Given the description of an element on the screen output the (x, y) to click on. 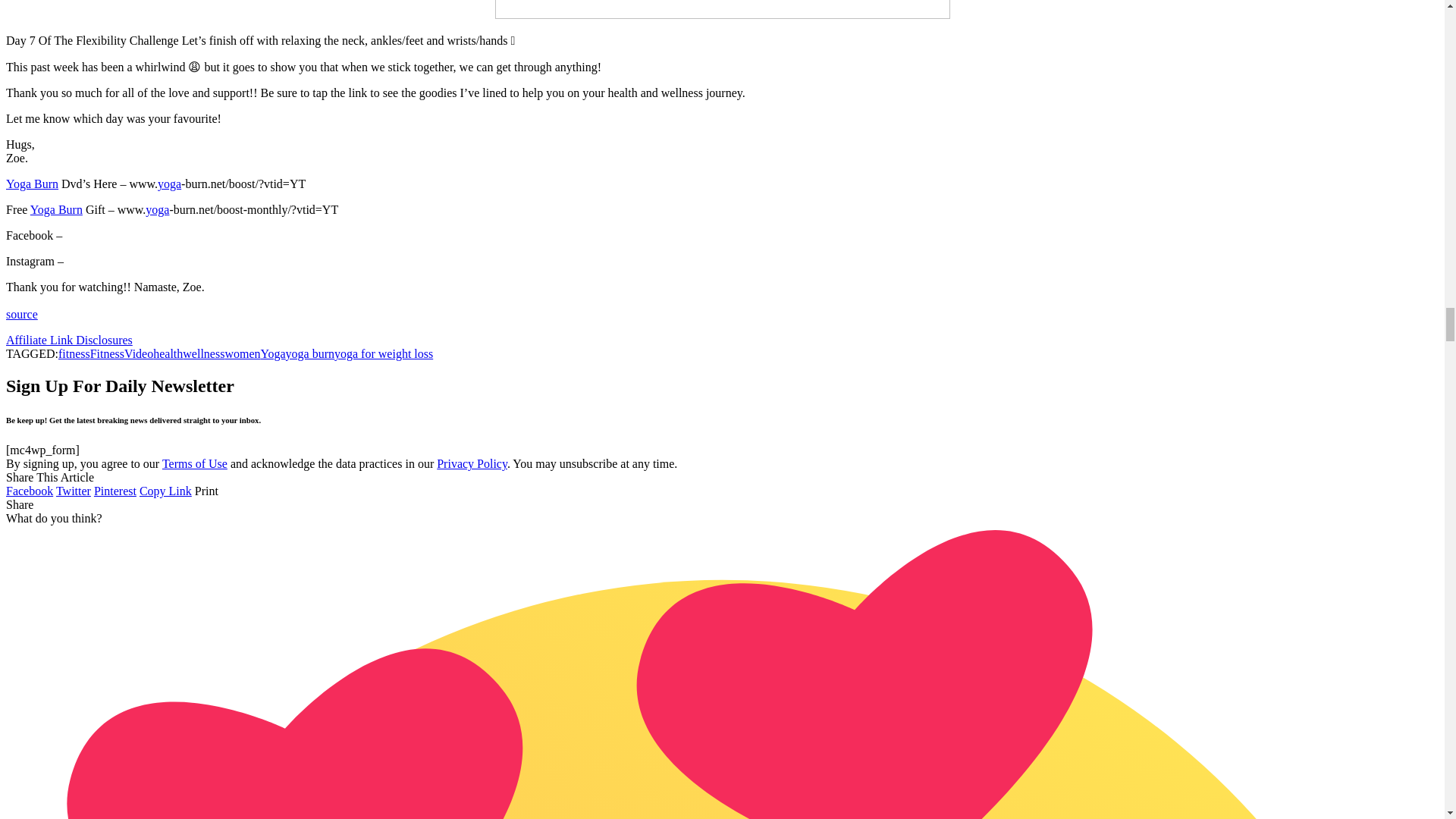
Yoga Burn For Women (168, 183)
Yoga For Healing (56, 209)
Yoga Burn For Women (156, 209)
Yoga For Healing (31, 183)
